Given the description of an element on the screen output the (x, y) to click on. 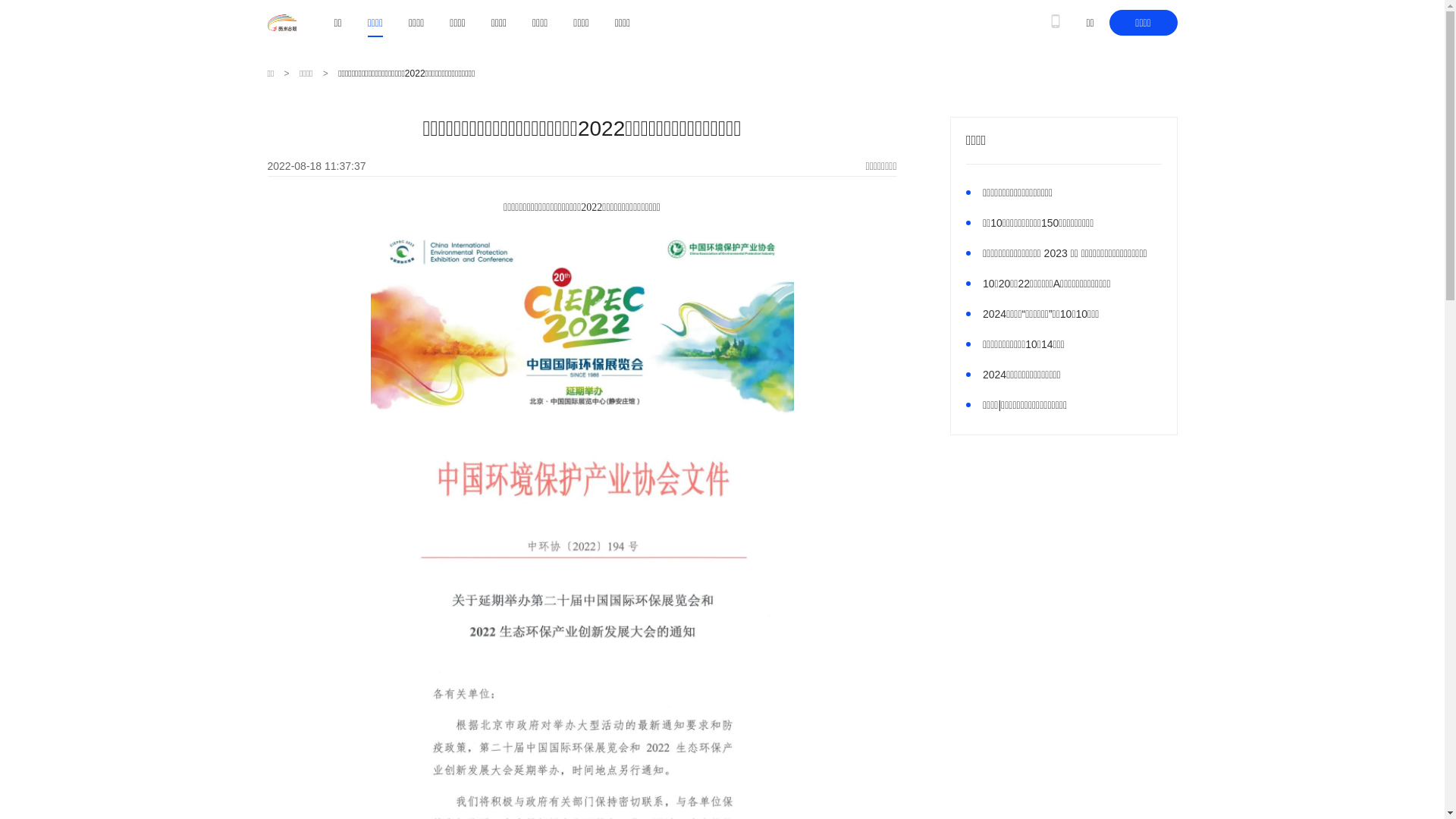
1660793817336023.png Element type: hover (581, 324)
